Given the description of an element on the screen output the (x, y) to click on. 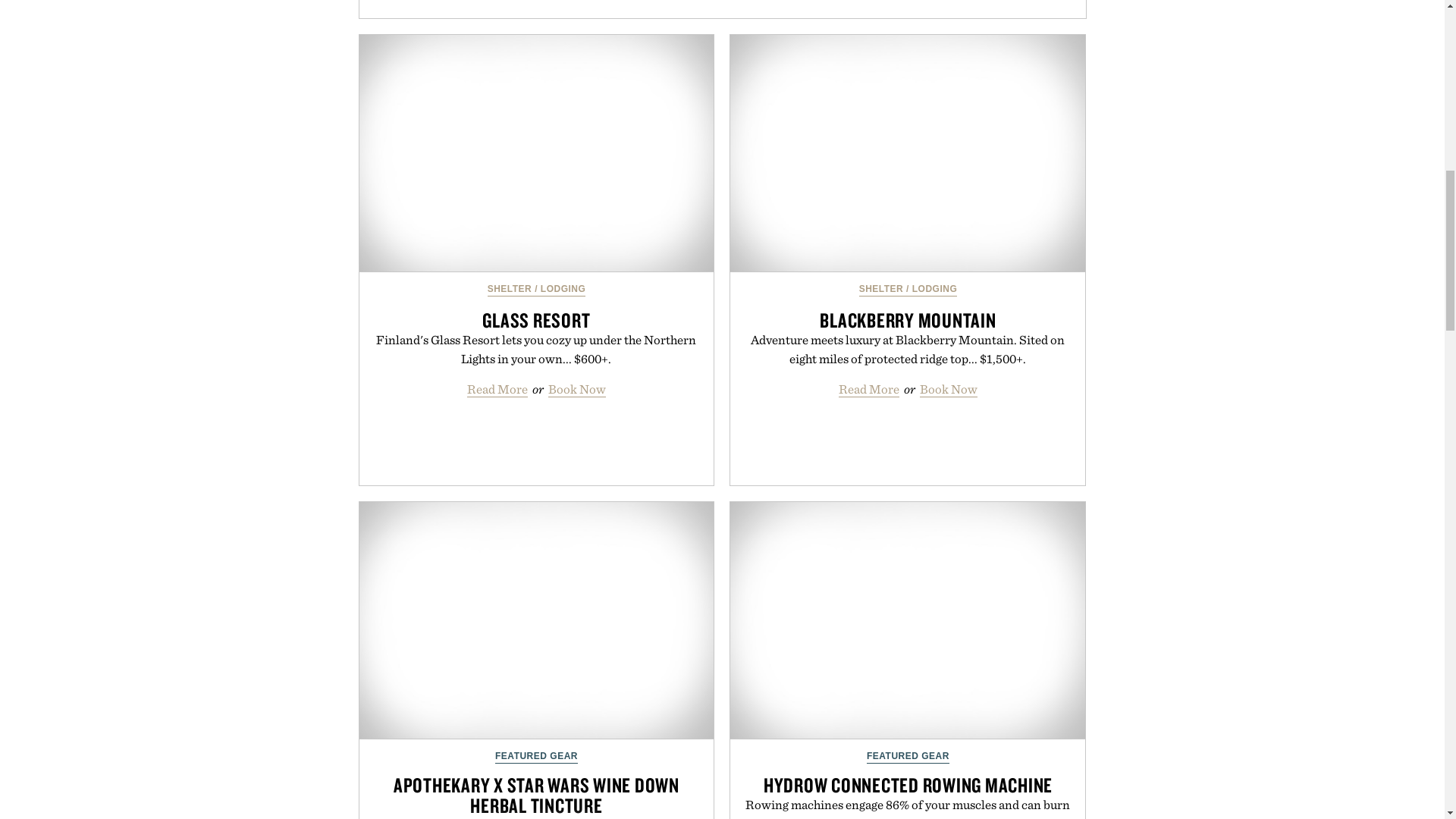
3rd party ad content (725, 9)
Hydrow Connected Rowing Machine (907, 620)
Glass Resort (536, 153)
Apothekary x Star Wars Wine Down Herbal Tincture (536, 620)
Blackberry Mountain (907, 153)
